Given the description of an element on the screen output the (x, y) to click on. 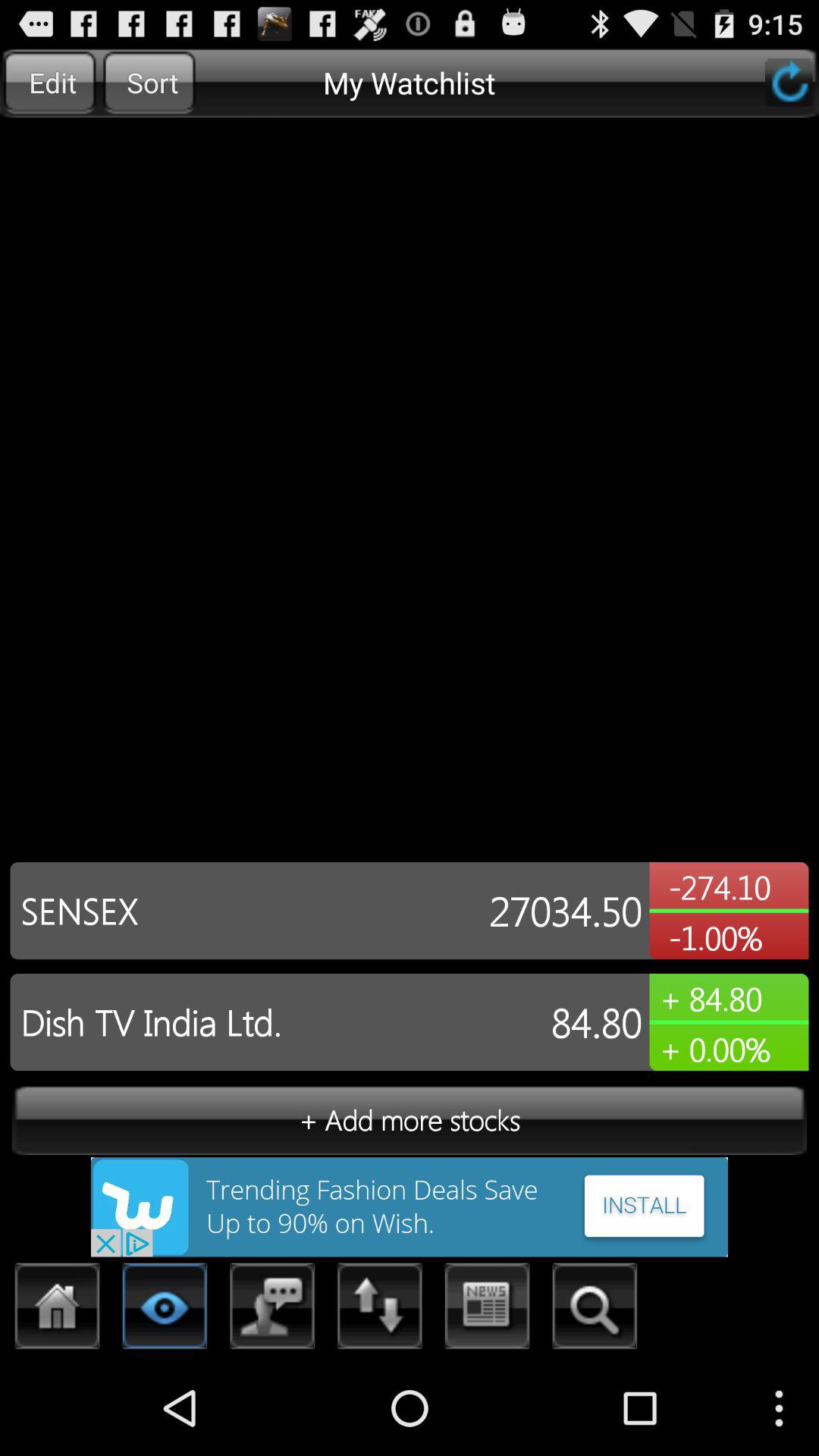
search button (594, 1310)
